Given the description of an element on the screen output the (x, y) to click on. 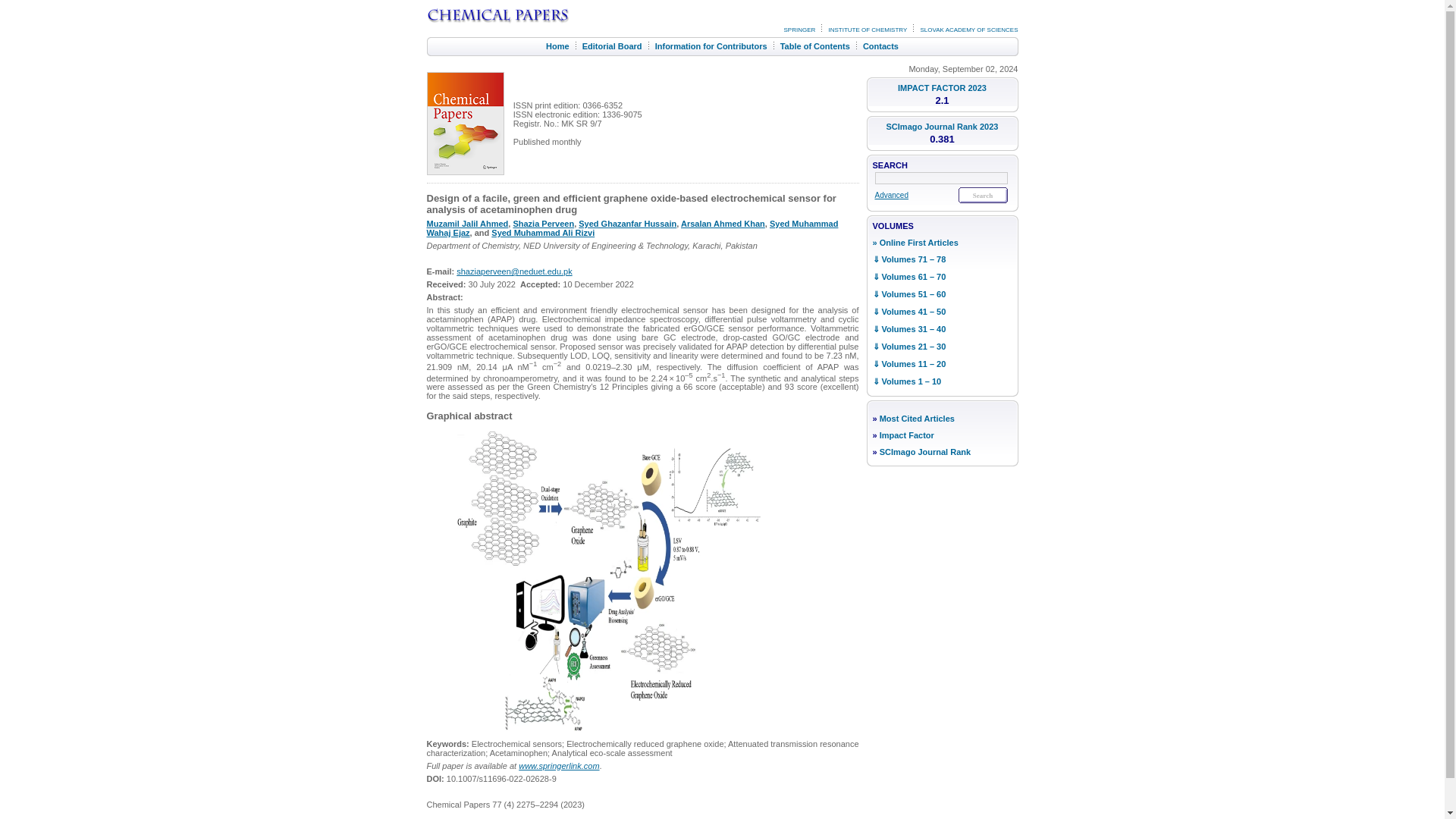
Arsalan Ahmed Khan (723, 223)
Editorial Board (612, 45)
Home (557, 45)
SLOVAK ACADEMY OF SCIENCES (968, 29)
Search (982, 195)
Syed Muhammad Ali Rizvi (543, 232)
Search (982, 195)
Syed Muhammad Wahaj Ejaz (632, 228)
Advanced (891, 194)
Table of Contents (815, 45)
